Given the description of an element on the screen output the (x, y) to click on. 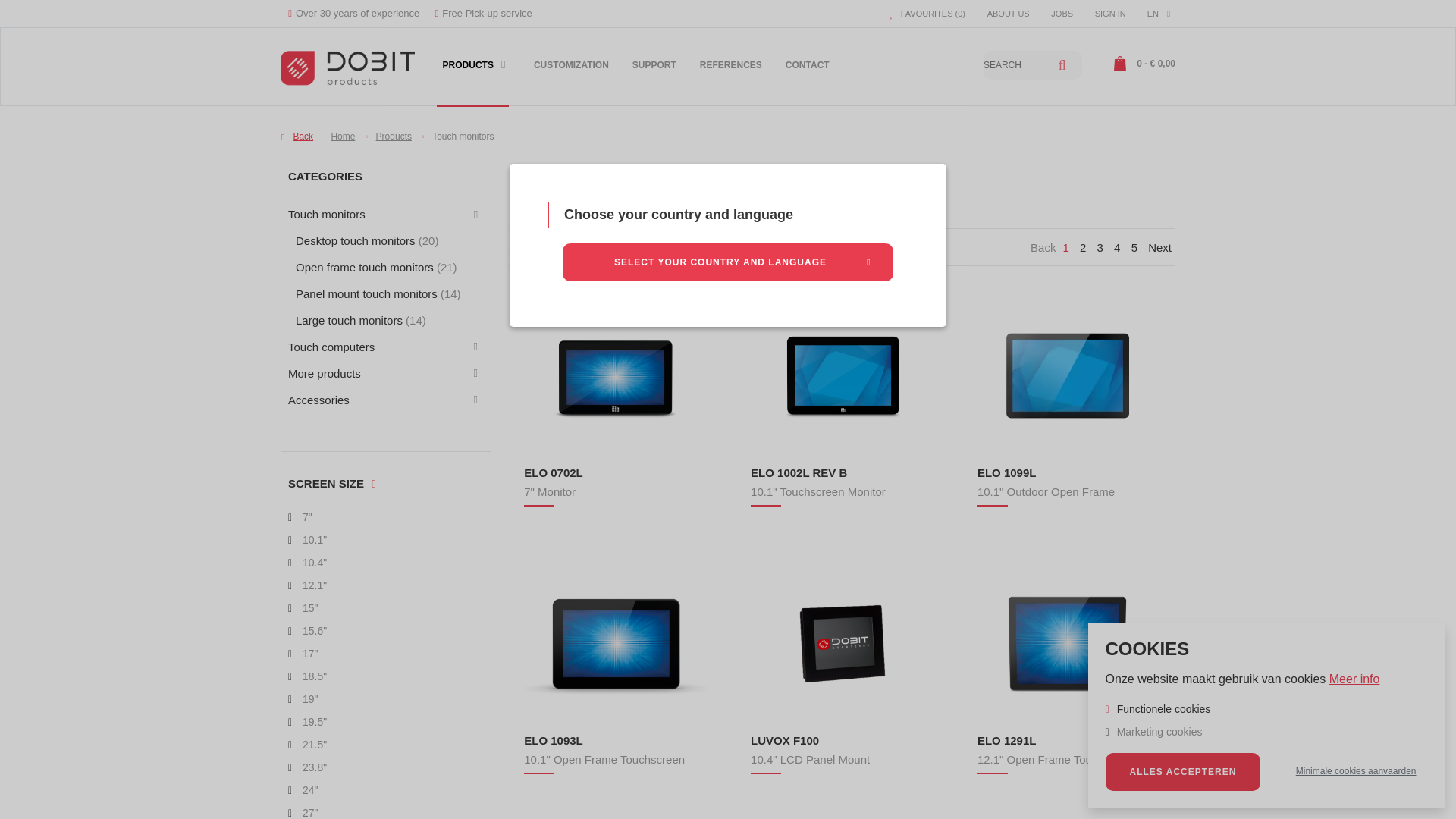
Back (297, 136)
EN (1158, 13)
REFERENCES (731, 73)
PRODUCTS (472, 73)
CUSTOMIZATION (570, 73)
